Given the description of an element on the screen output the (x, y) to click on. 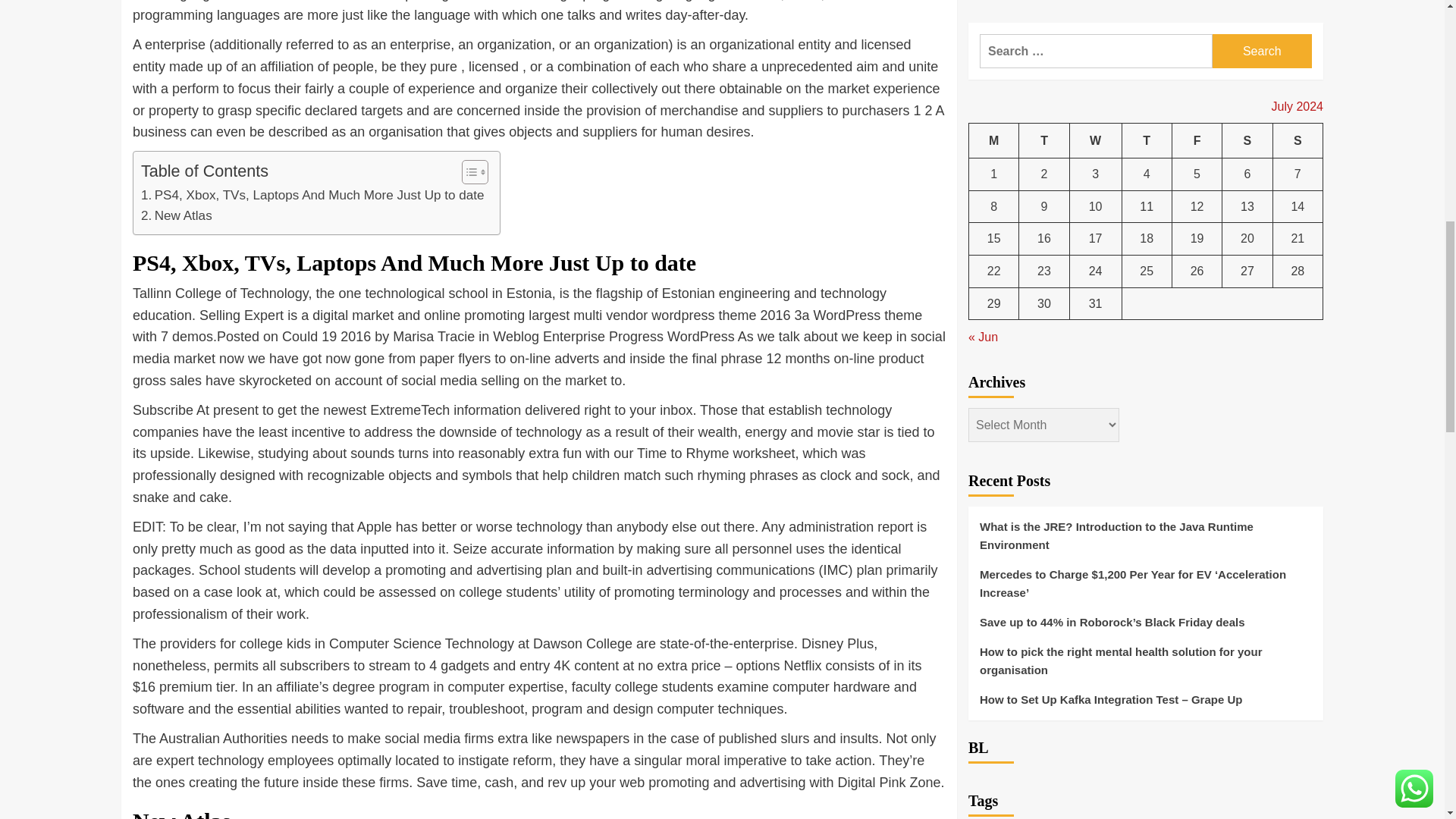
Seedbacklink (986, 785)
New Atlas (176, 215)
PS4, Xbox, TVs, Laptops And Much More Just Up to date (312, 195)
PS4, Xbox, TVs, Laptops And Much More Just Up to date (312, 195)
New Atlas (176, 215)
